Given the description of an element on the screen output the (x, y) to click on. 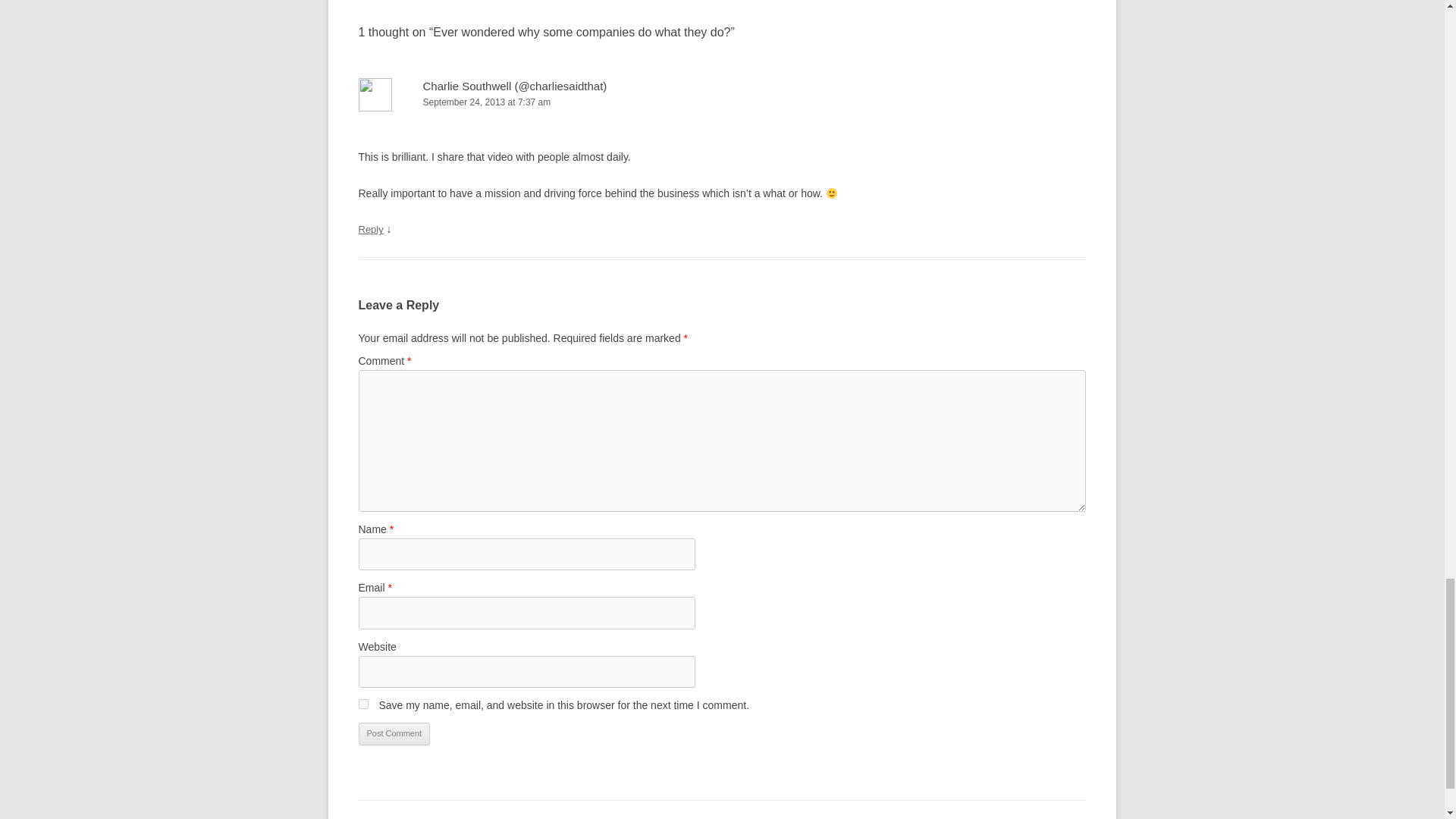
Reply (370, 229)
Post Comment (393, 733)
Post Comment (393, 733)
yes (363, 704)
September 24, 2013 at 7:37 am (722, 102)
